Given the description of an element on the screen output the (x, y) to click on. 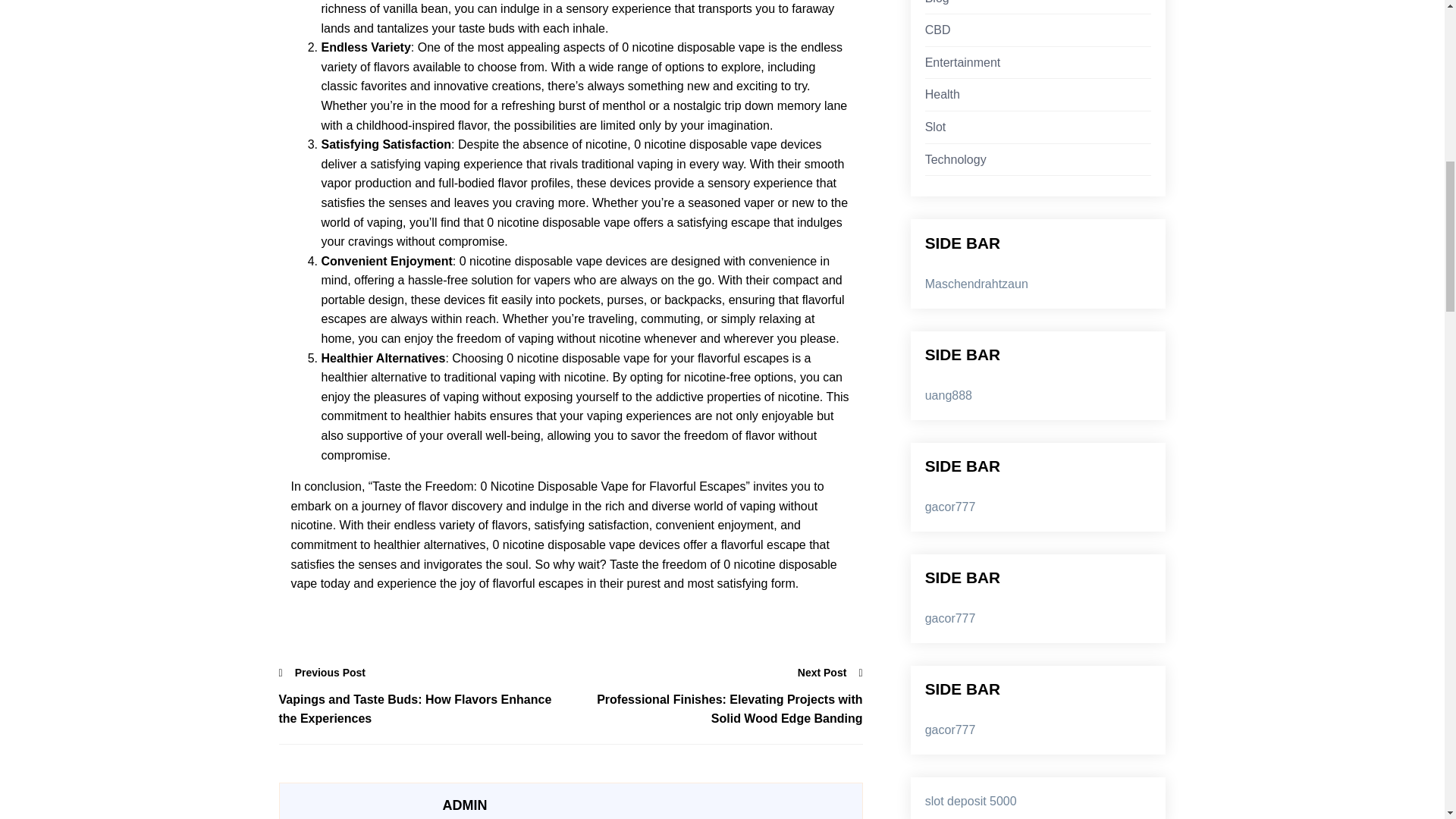
Previous Post (322, 672)
Vapings and Taste Buds: How Flavors Enhance the Experiences (424, 709)
Next Post (830, 672)
